Given the description of an element on the screen output the (x, y) to click on. 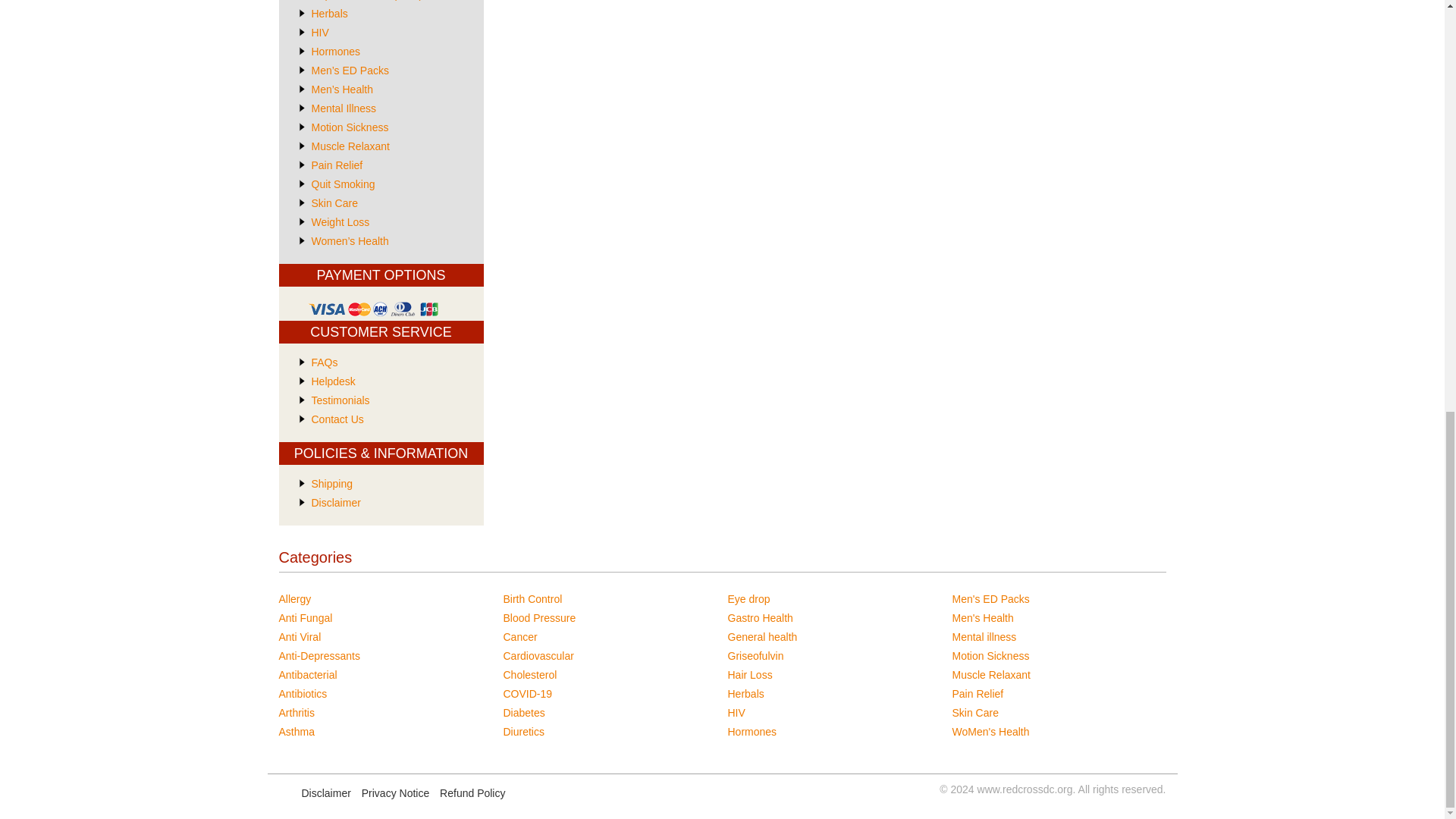
HIV (320, 32)
Herbals (329, 13)
Hormones (335, 51)
